Given the description of an element on the screen output the (x, y) to click on. 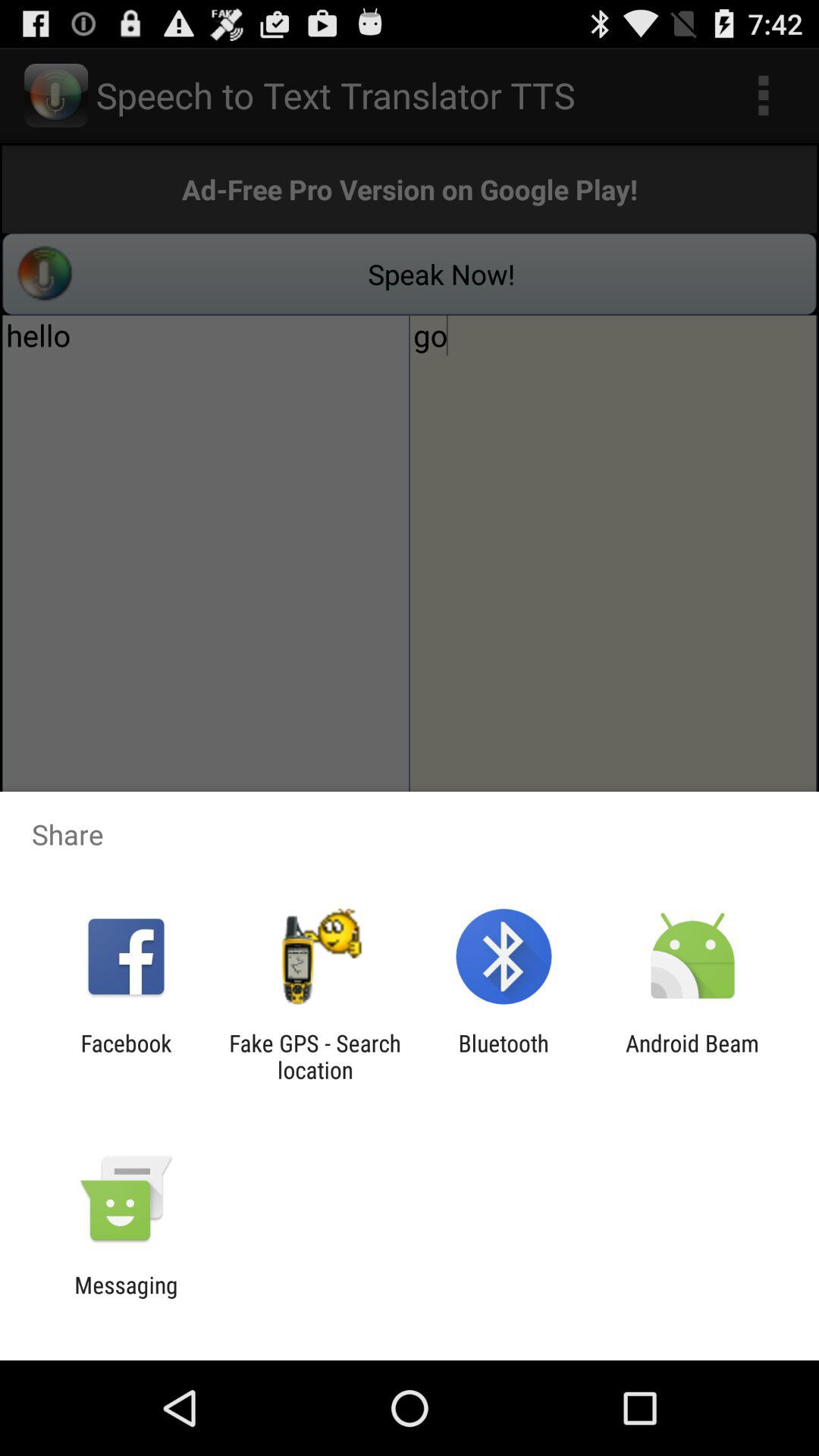
click icon next to fake gps search item (503, 1056)
